Given the description of an element on the screen output the (x, y) to click on. 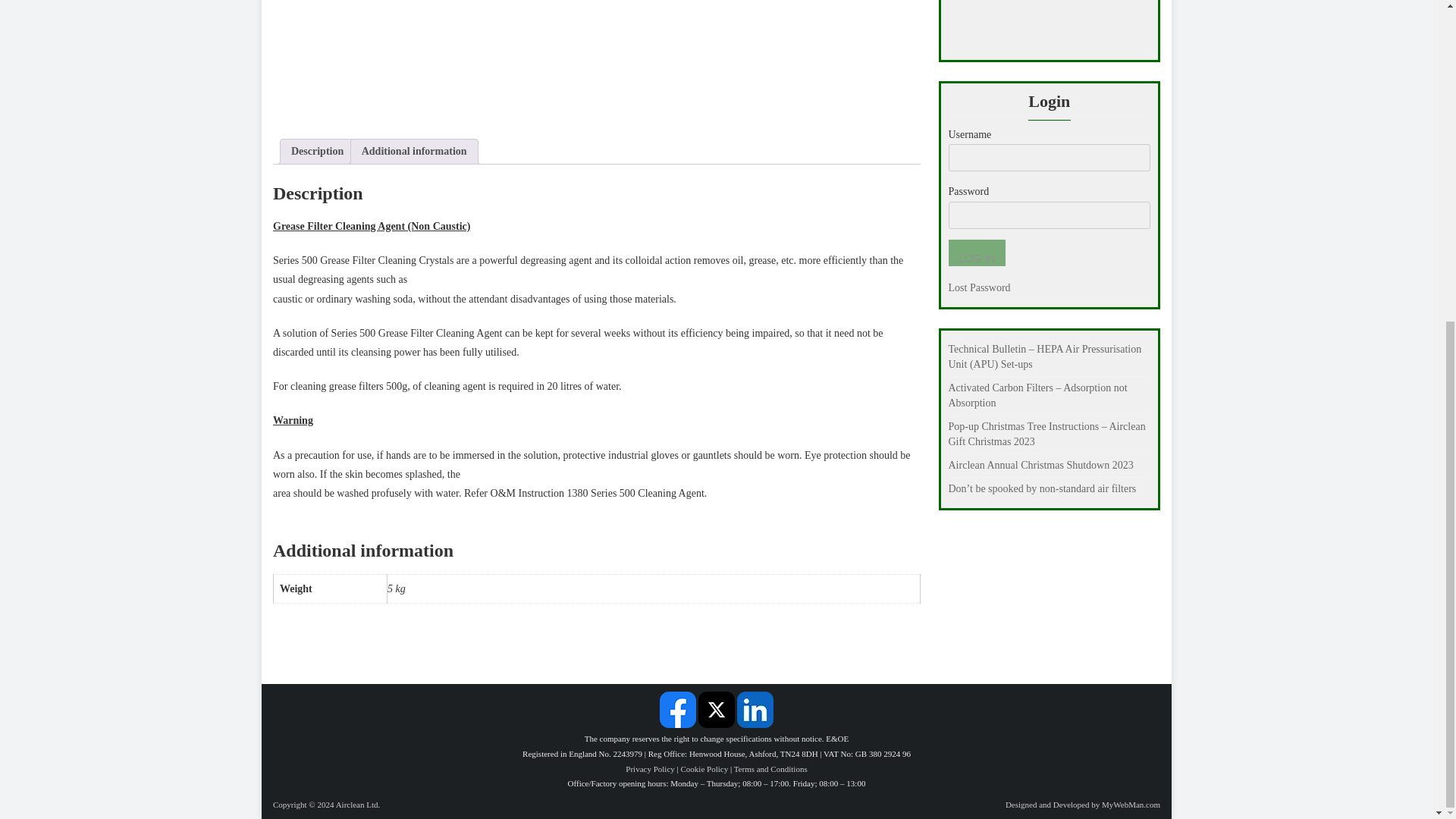
Log In (975, 252)
